Given the description of an element on the screen output the (x, y) to click on. 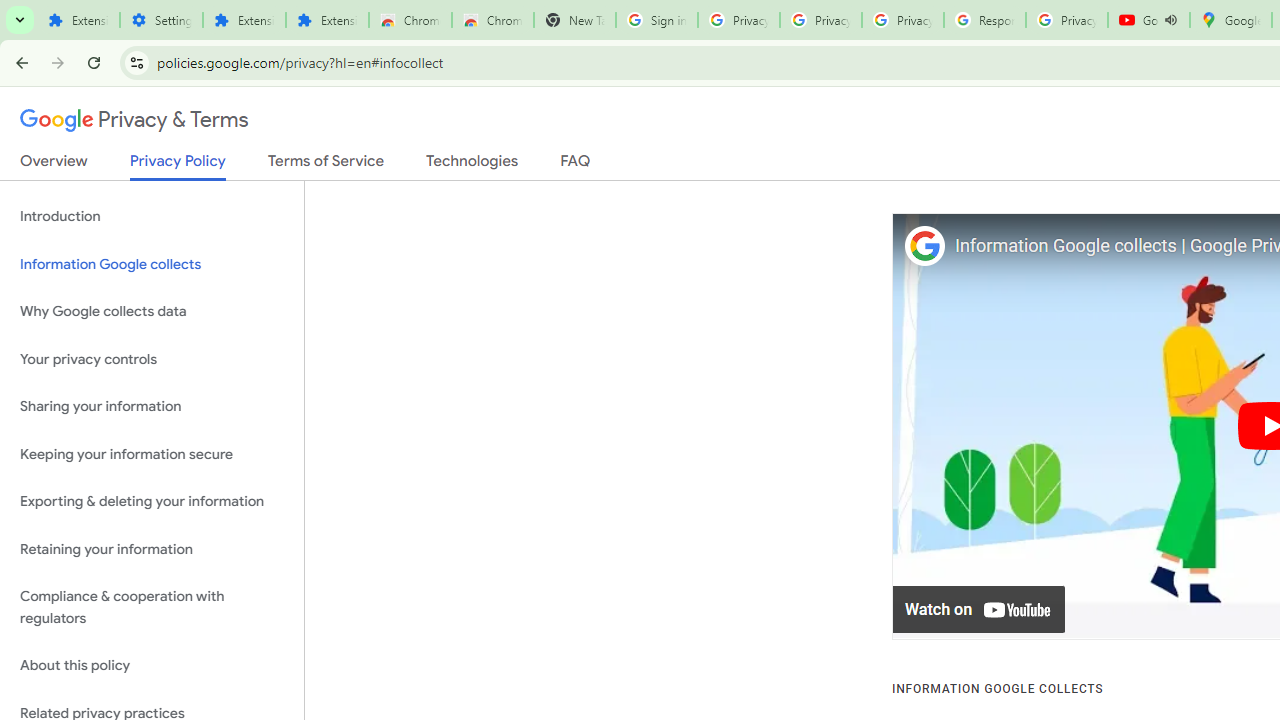
Compliance & cooperation with regulators (152, 607)
About this policy (152, 666)
Keeping your information secure (152, 453)
Exporting & deleting your information (152, 502)
Extensions (78, 20)
Your privacy controls (152, 358)
Retaining your information (152, 548)
